Given the description of an element on the screen output the (x, y) to click on. 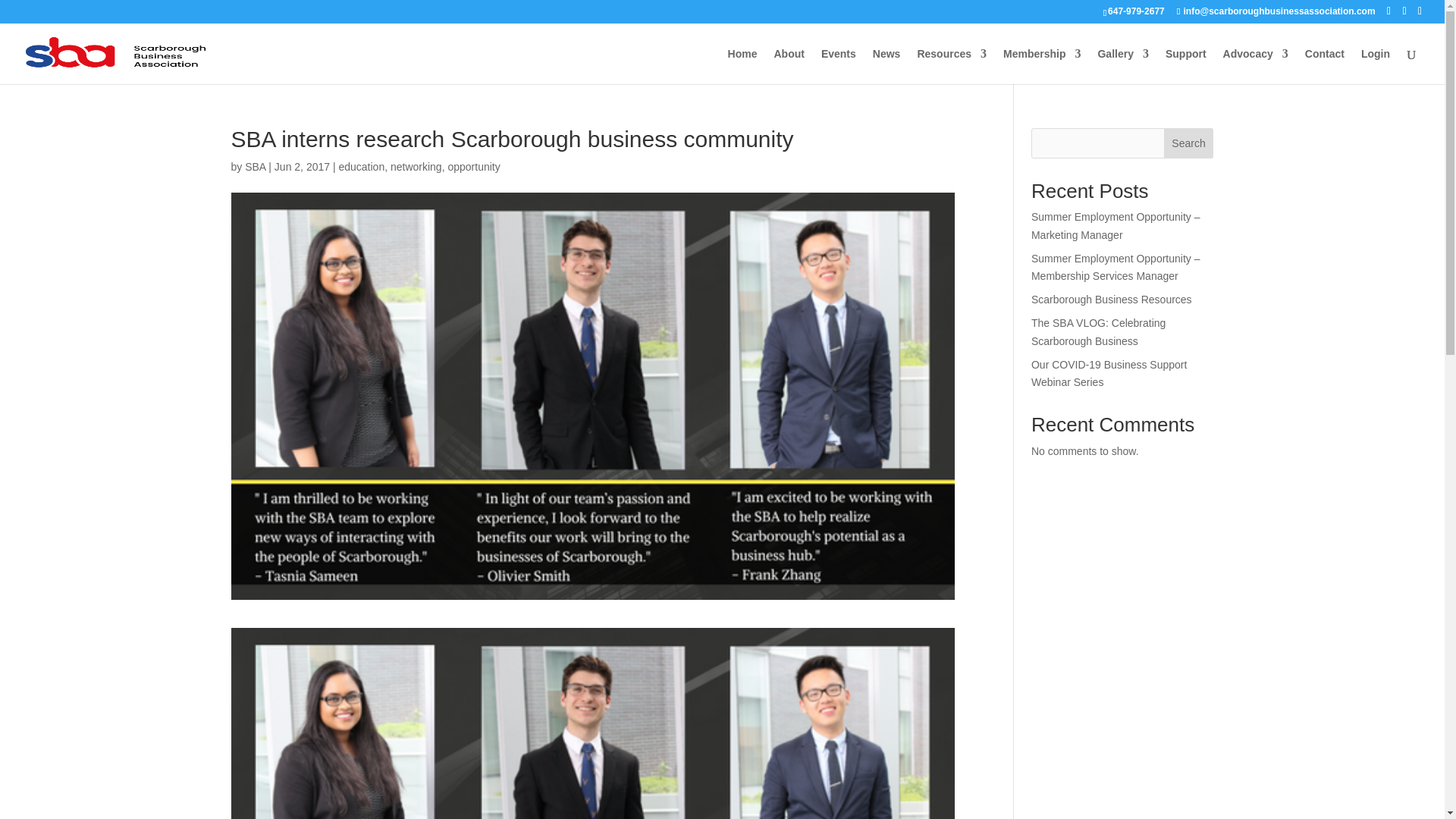
Support (1186, 66)
About (788, 66)
Membership (1041, 66)
Home (742, 66)
Advocacy (1255, 66)
News (886, 66)
Gallery (1122, 66)
Resources (952, 66)
Posts by SBA (254, 166)
Events (838, 66)
